Given the description of an element on the screen output the (x, y) to click on. 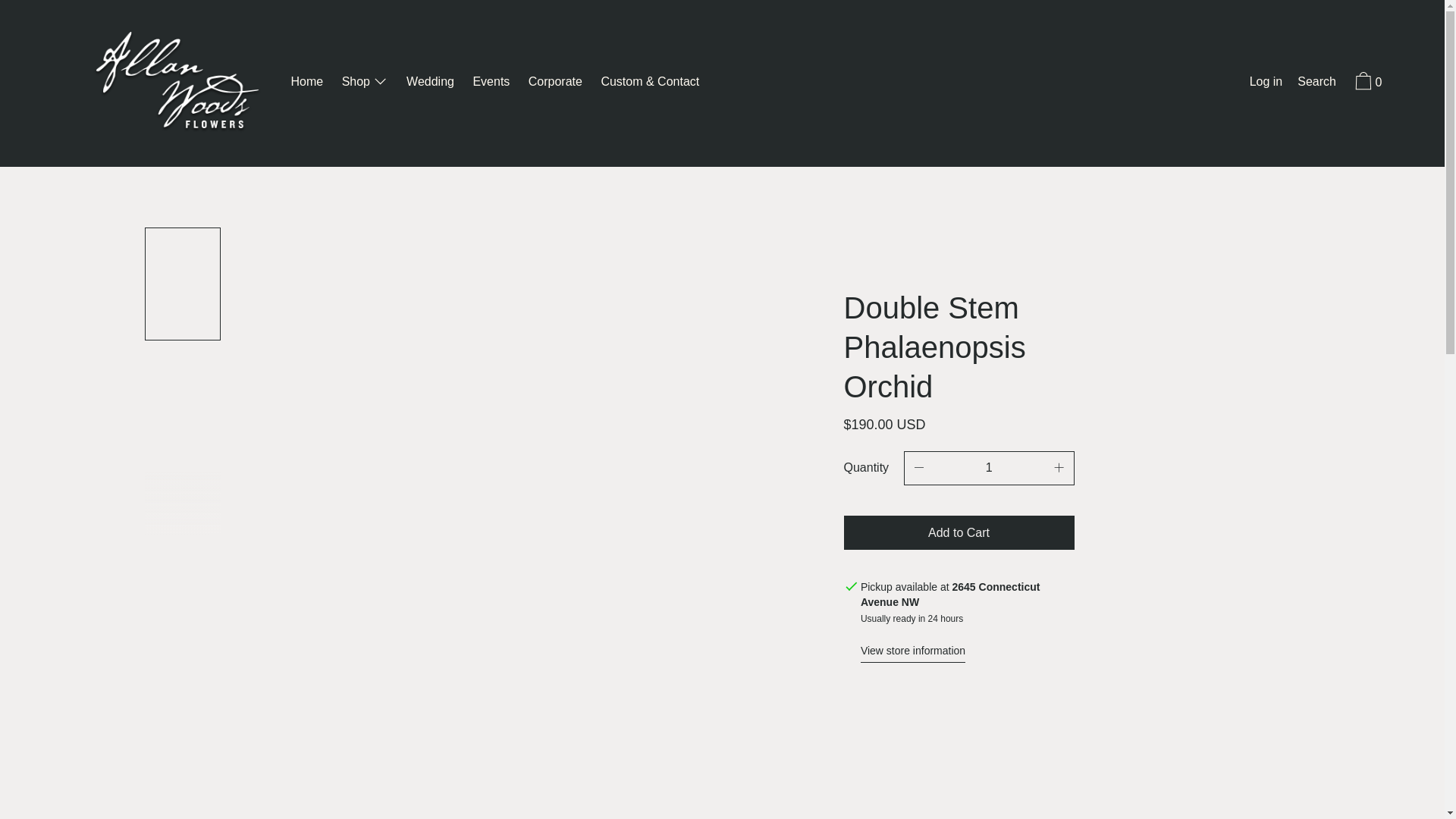
Log in (1265, 83)
Search (1316, 83)
Corporate (555, 83)
Home (307, 83)
Shop (365, 83)
Wedding (429, 83)
1 (988, 468)
0 (1366, 83)
Events (490, 83)
